Given the description of an element on the screen output the (x, y) to click on. 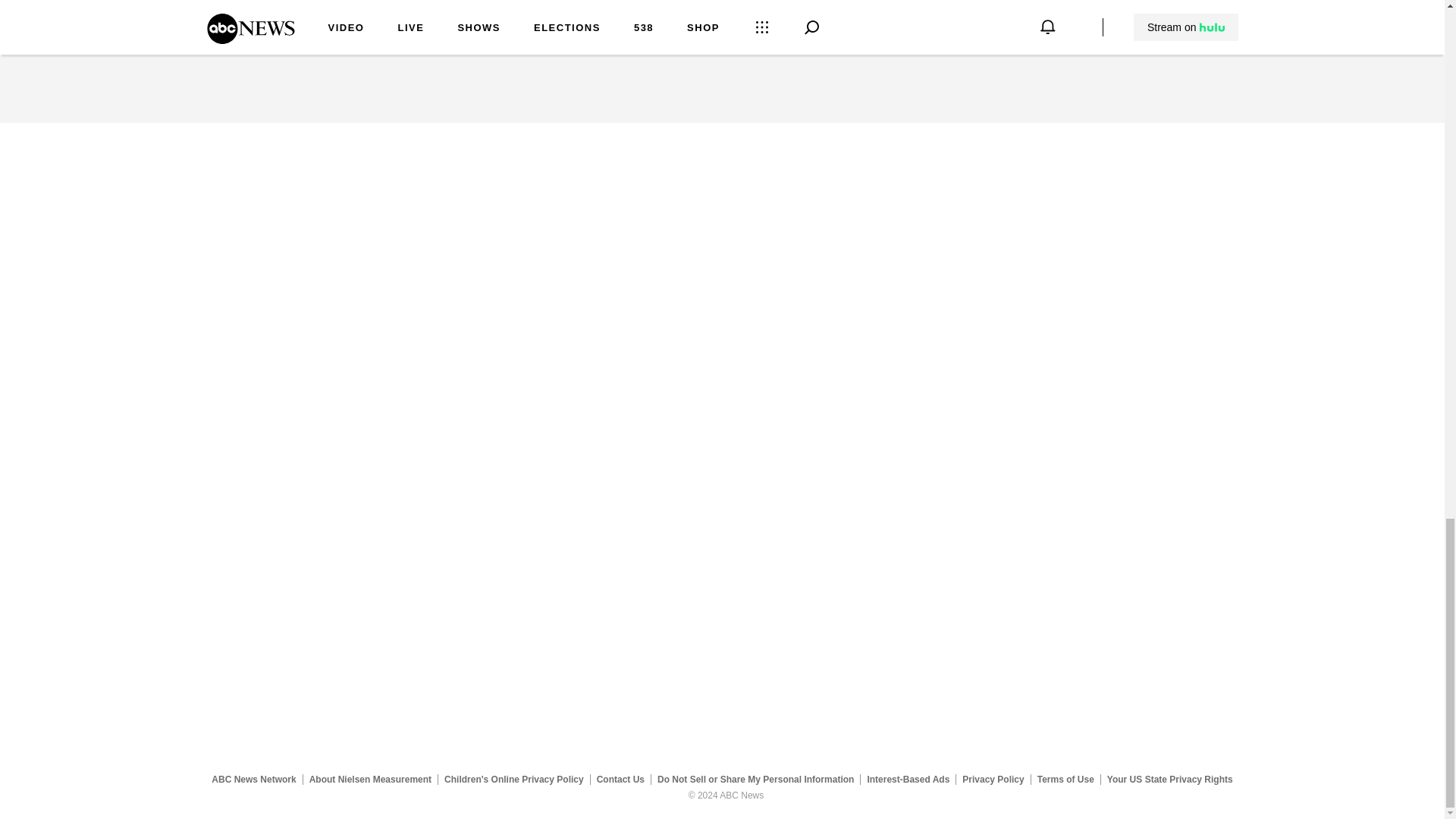
Privacy Policy (993, 778)
Do Not Sell or Share My Personal Information (755, 778)
Contact Us (620, 778)
About Nielsen Measurement (370, 778)
Interest-Based Ads (908, 778)
Children's Online Privacy Policy (514, 778)
Your US State Privacy Rights (1169, 778)
Terms of Use (1065, 778)
ABC News Network (253, 778)
